Given the description of an element on the screen output the (x, y) to click on. 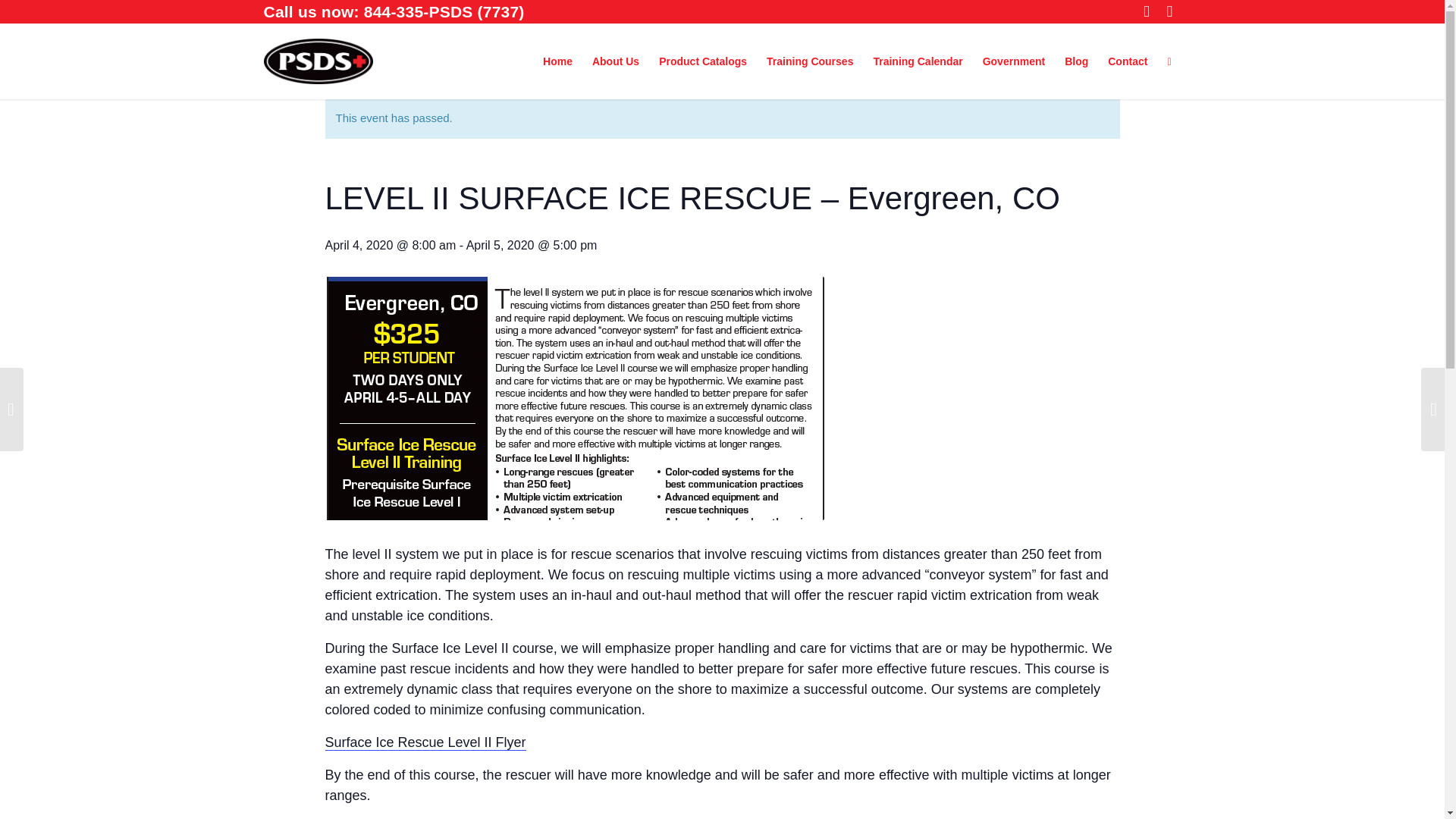
Government (1013, 61)
Product Catalogs (703, 61)
Training Calendar (917, 61)
Twitter (1169, 11)
Training Courses (810, 61)
Surface Ice Rescue Level II Flyer (424, 742)
Facebook (1146, 11)
